Given the description of an element on the screen output the (x, y) to click on. 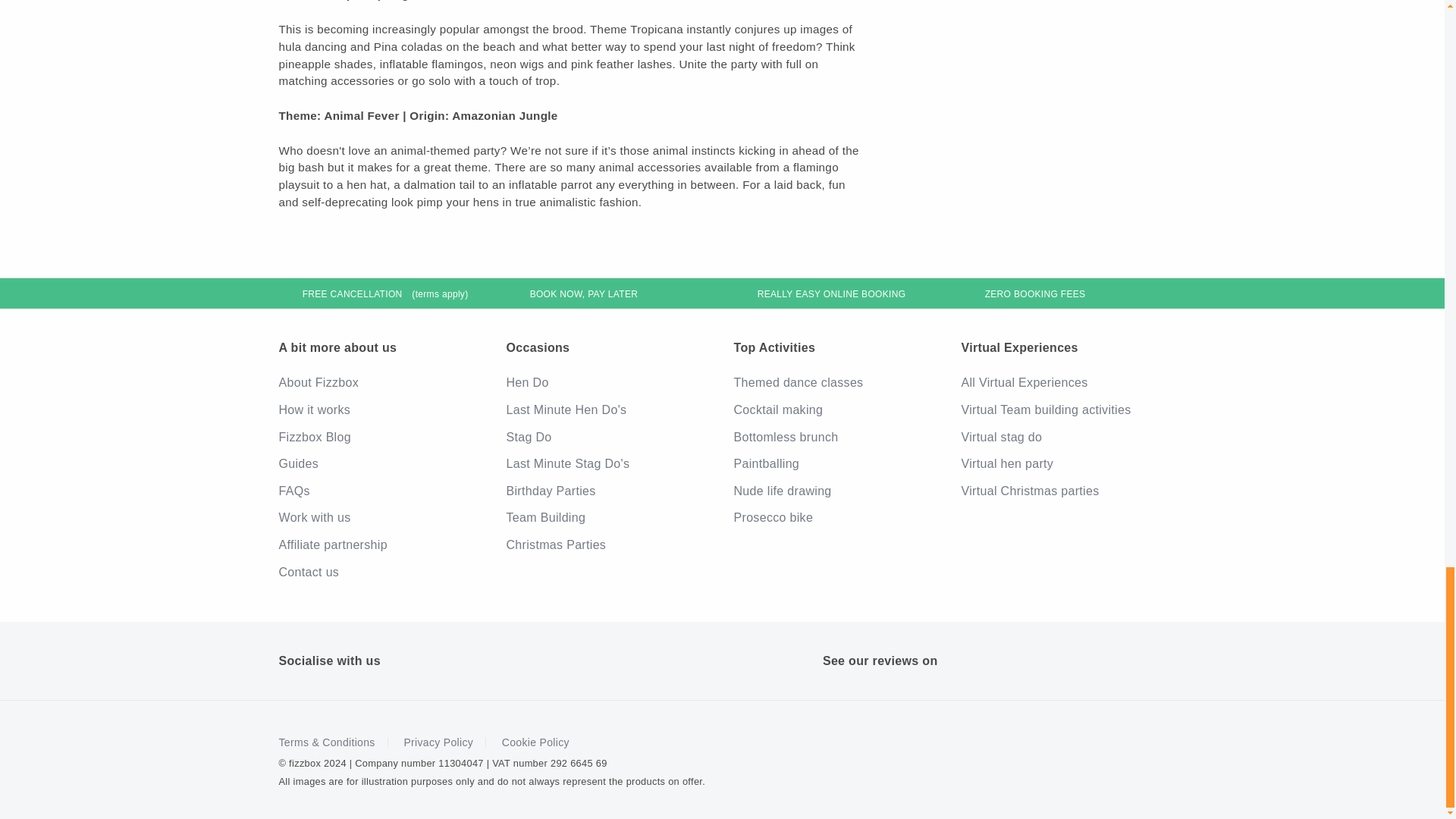
Team Building (608, 517)
Last minute hen do's (608, 410)
Hen Dos (608, 382)
Guides (381, 463)
FAQ'S (381, 491)
about Fizzbox (381, 517)
about Fizzbox (381, 382)
Birthday Parties (608, 491)
How it works (381, 410)
Stag Do's (608, 437)
